Given the description of an element on the screen output the (x, y) to click on. 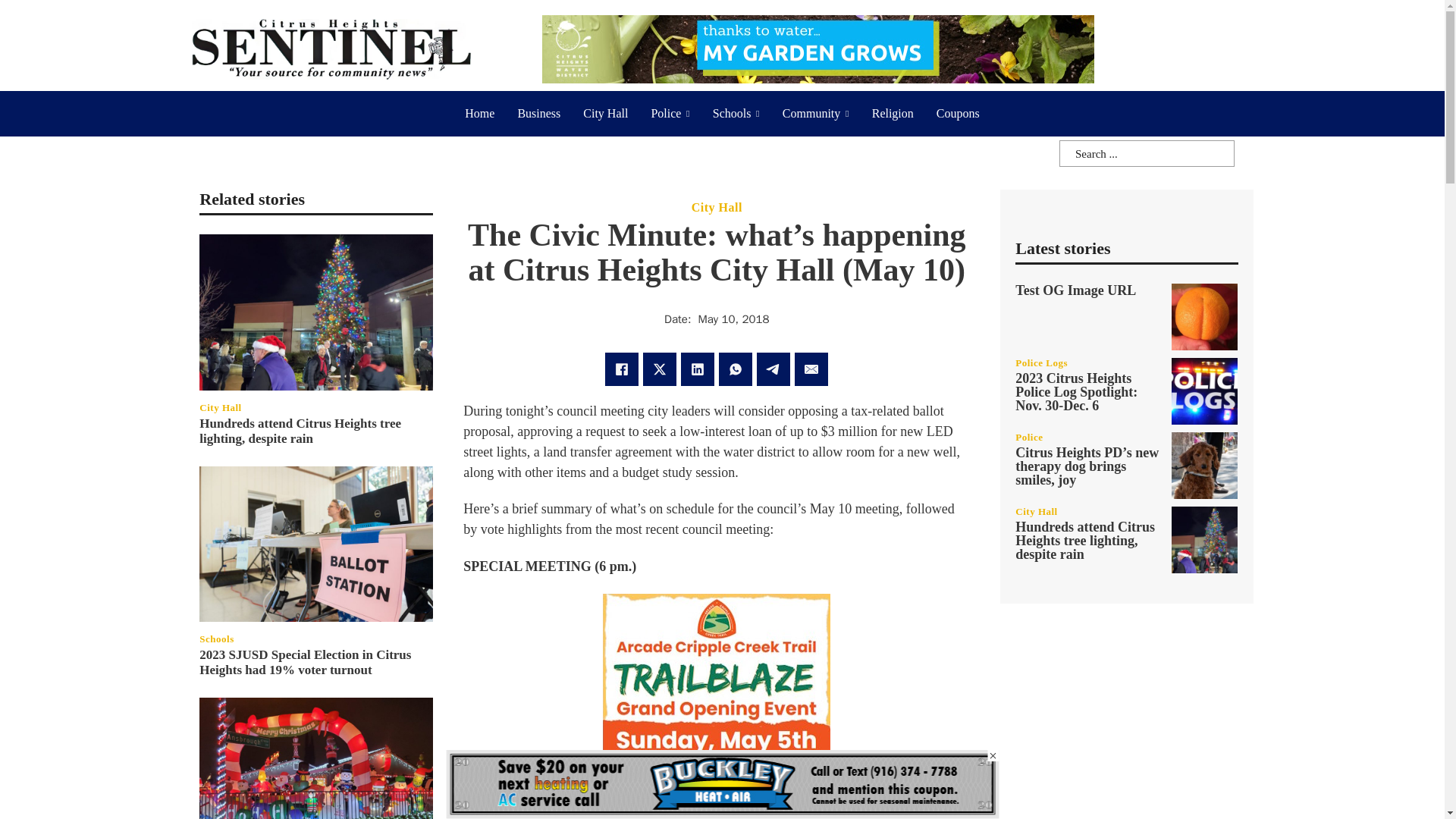
Home (479, 113)
Community (811, 113)
Business (538, 113)
close (992, 755)
Police (665, 113)
Coupons (957, 113)
City Hall (605, 113)
Schools (732, 113)
Religion (893, 113)
